Given the description of an element on the screen output the (x, y) to click on. 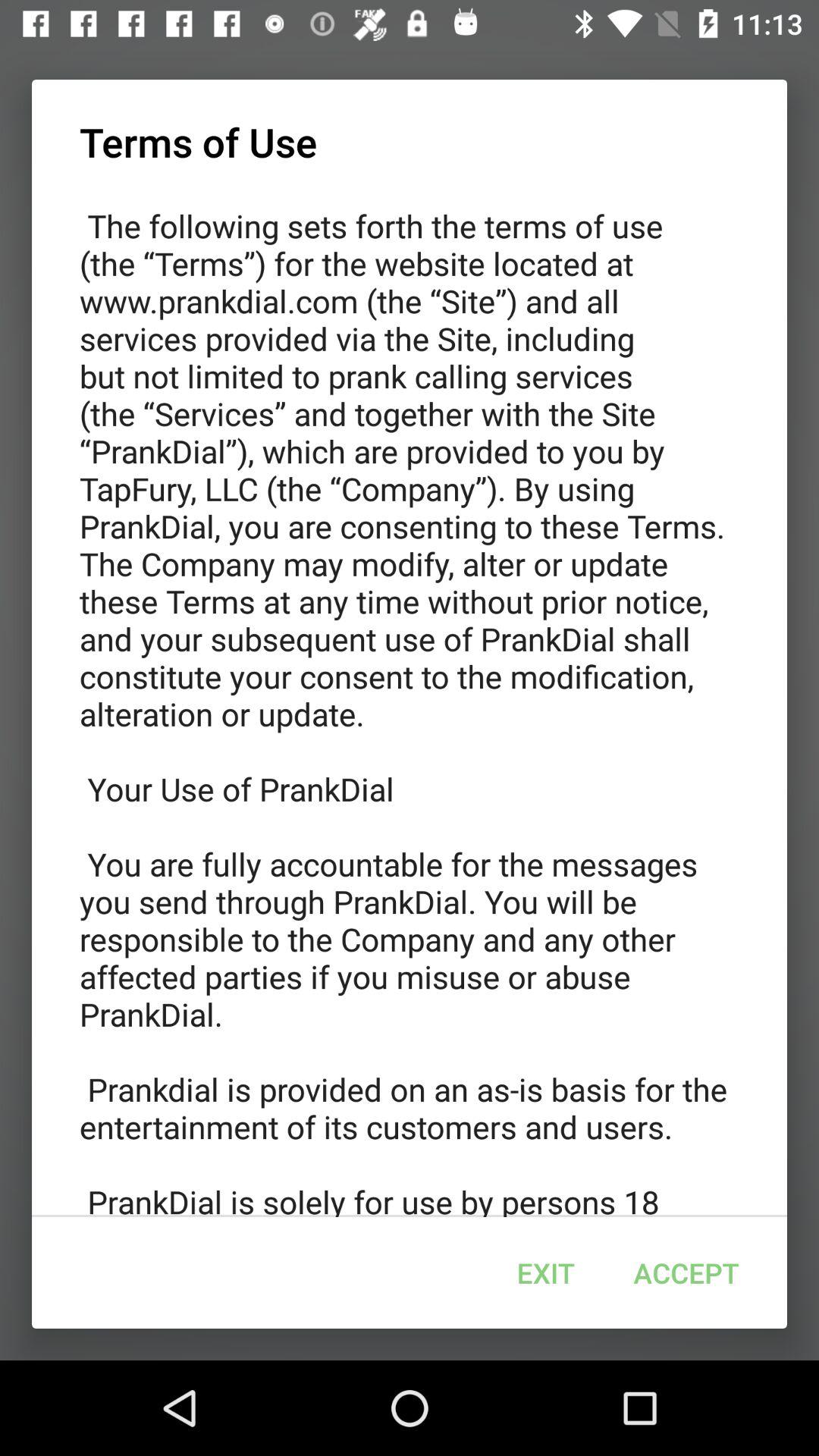
choose the item to the right of exit icon (686, 1272)
